Given the description of an element on the screen output the (x, y) to click on. 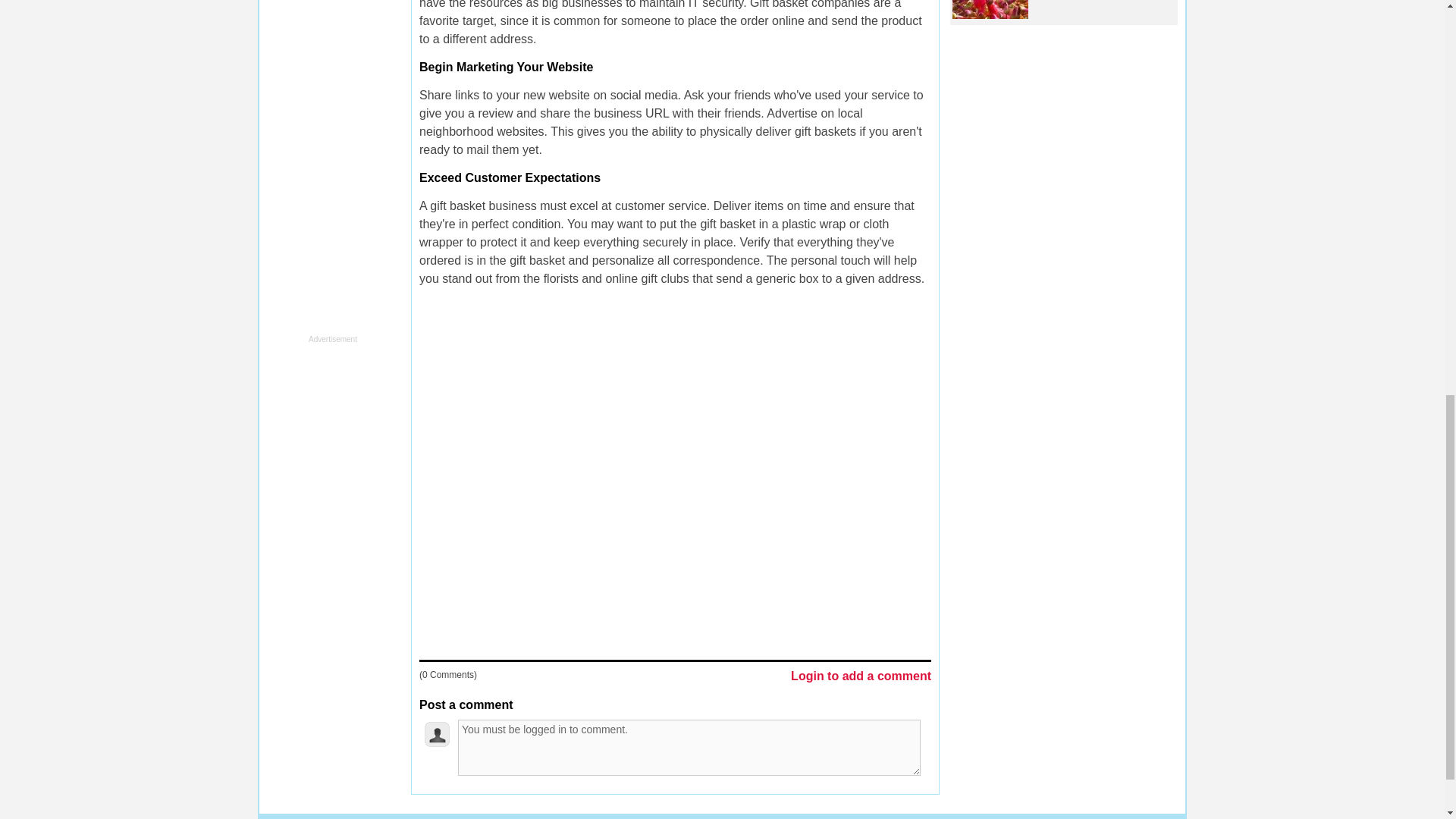
Login to add a comment (860, 676)
